Given the description of an element on the screen output the (x, y) to click on. 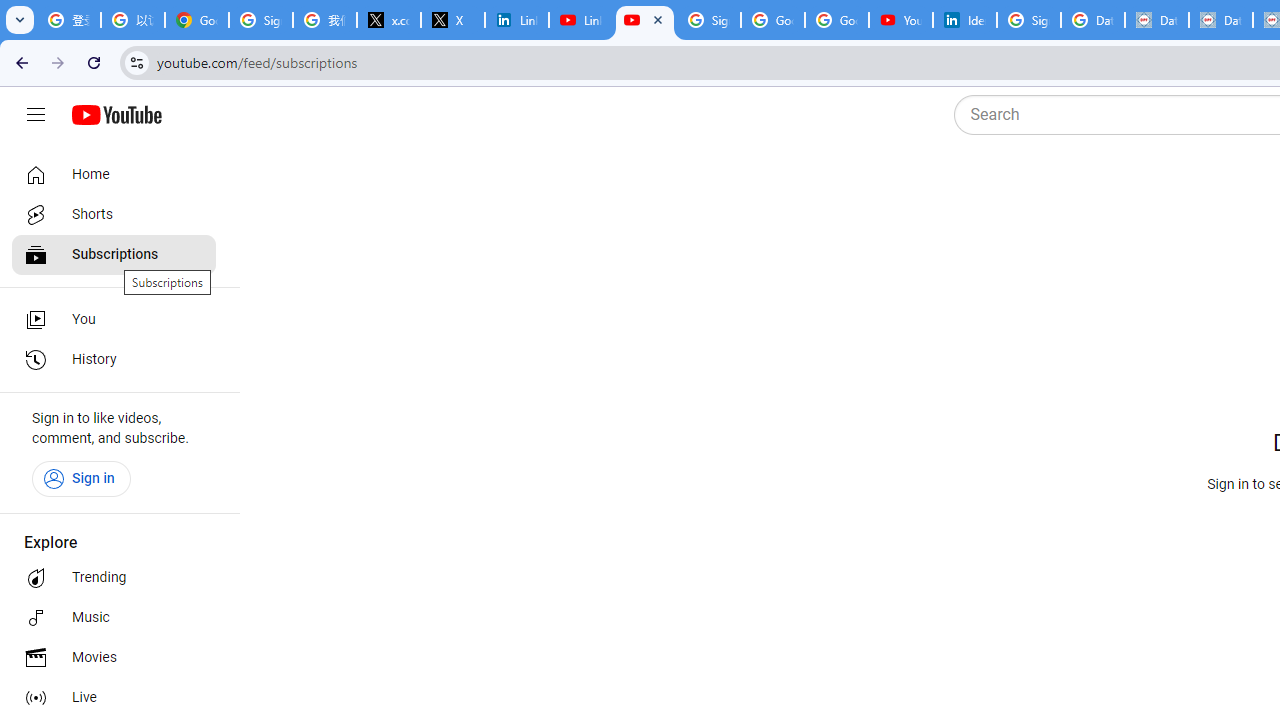
Sign in - Google Accounts (261, 20)
Music (113, 617)
Live (113, 697)
Subscriptions (113, 254)
